Given the description of an element on the screen output the (x, y) to click on. 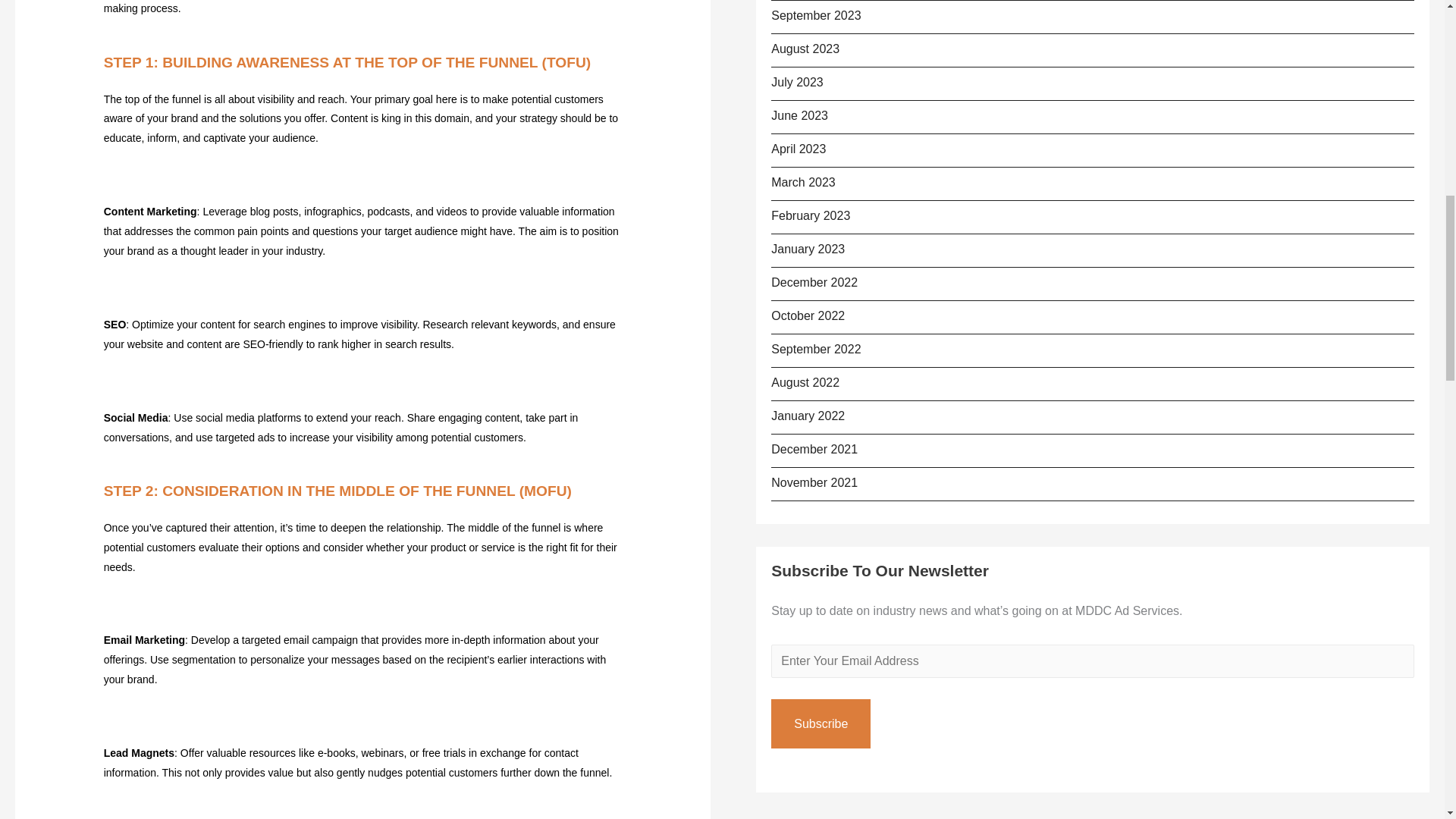
September 2023 (815, 15)
August 2023 (805, 48)
June 2023 (799, 115)
Subscribe (820, 724)
July 2023 (797, 82)
